Given the description of an element on the screen output the (x, y) to click on. 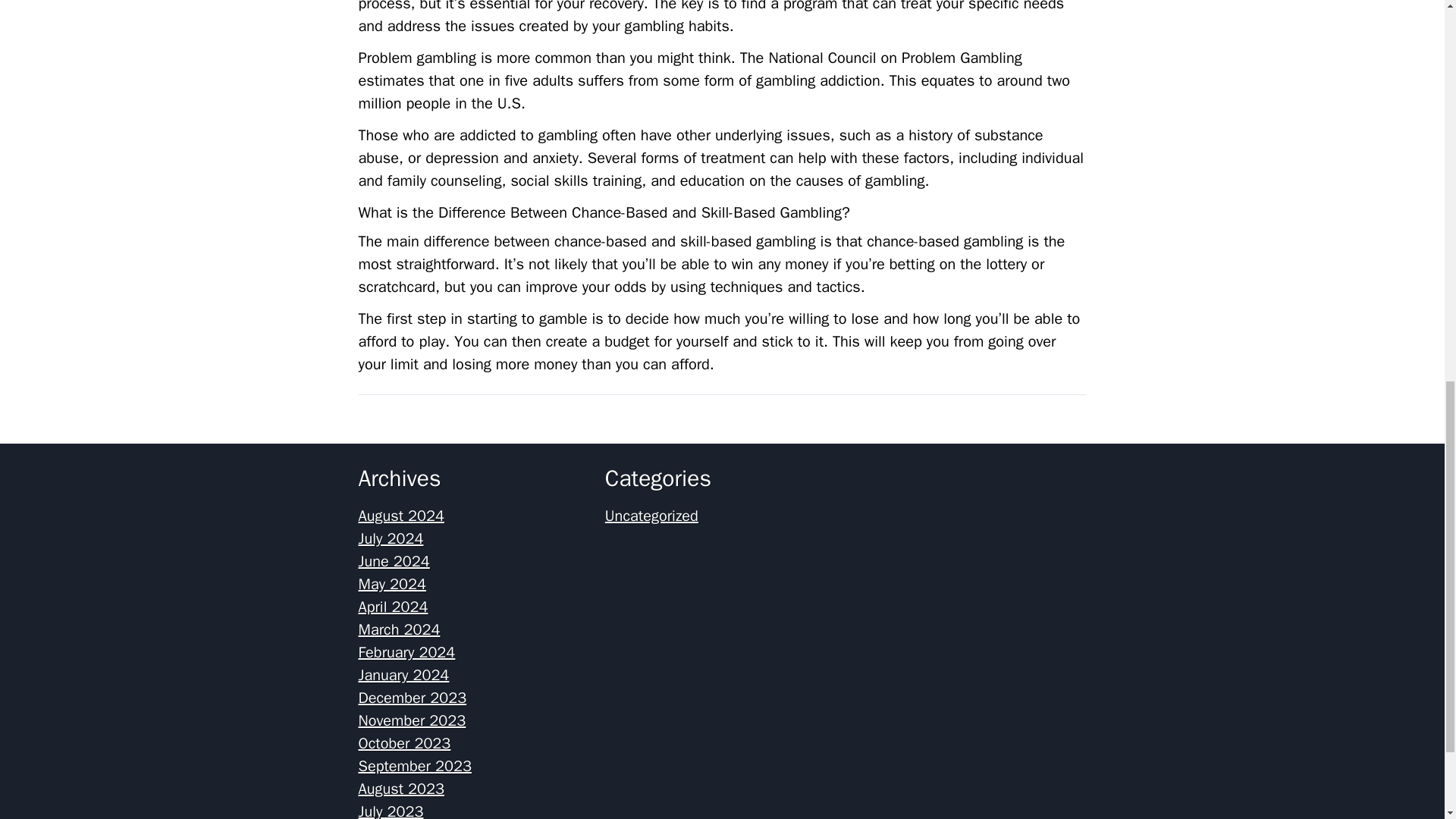
July 2023 (390, 810)
April 2024 (393, 606)
November 2023 (411, 720)
December 2023 (411, 697)
October 2023 (403, 742)
May 2024 (392, 583)
August 2024 (401, 515)
February 2024 (406, 651)
August 2023 (401, 788)
January 2024 (403, 674)
June 2024 (393, 561)
September 2023 (414, 765)
July 2024 (390, 538)
March 2024 (398, 629)
Uncategorized (651, 515)
